Given the description of an element on the screen output the (x, y) to click on. 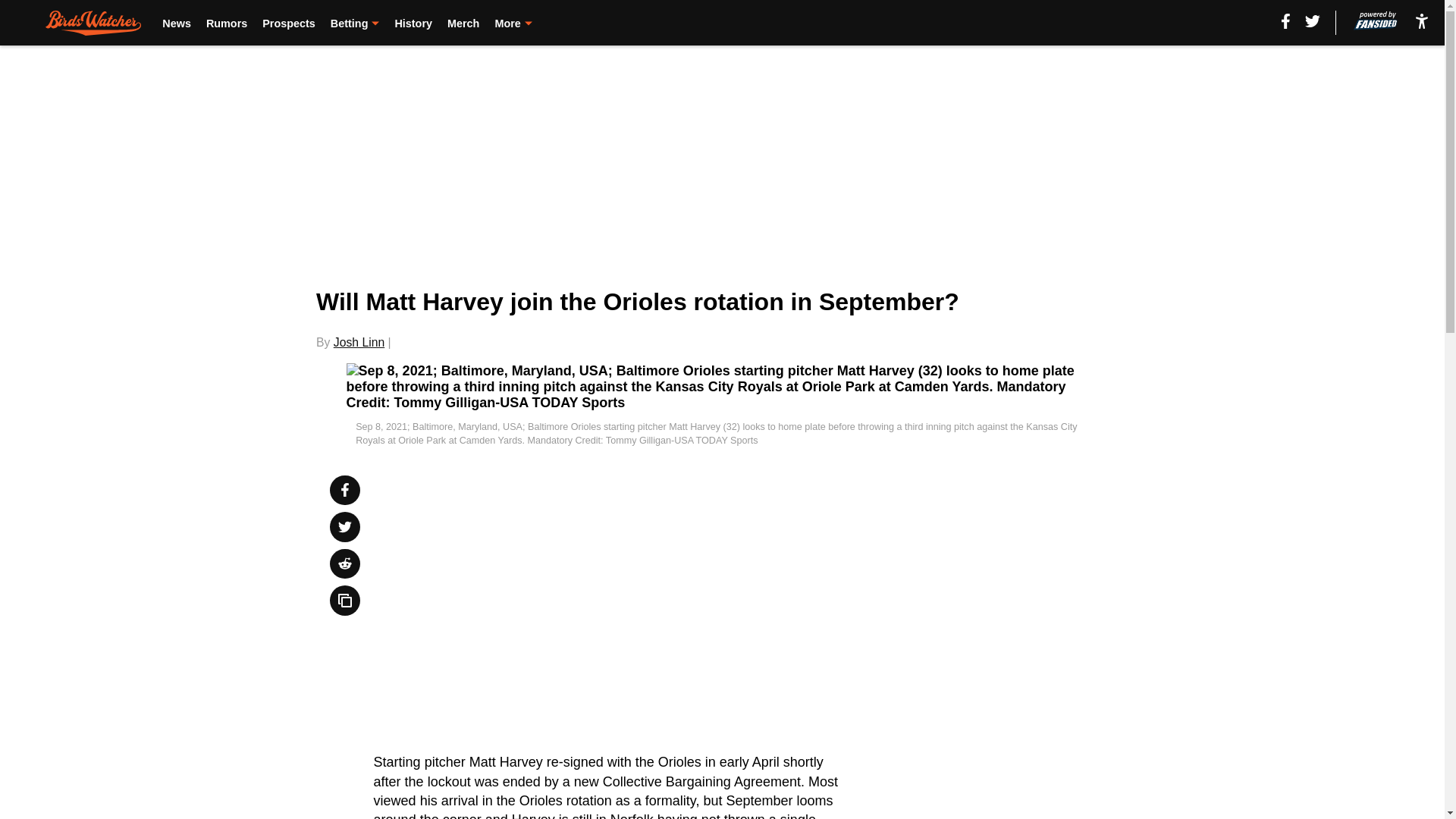
Prospects (288, 23)
Rumors (226, 23)
Josh Linn (358, 341)
News (175, 23)
History (413, 23)
Merch (462, 23)
